Given the description of an element on the screen output the (x, y) to click on. 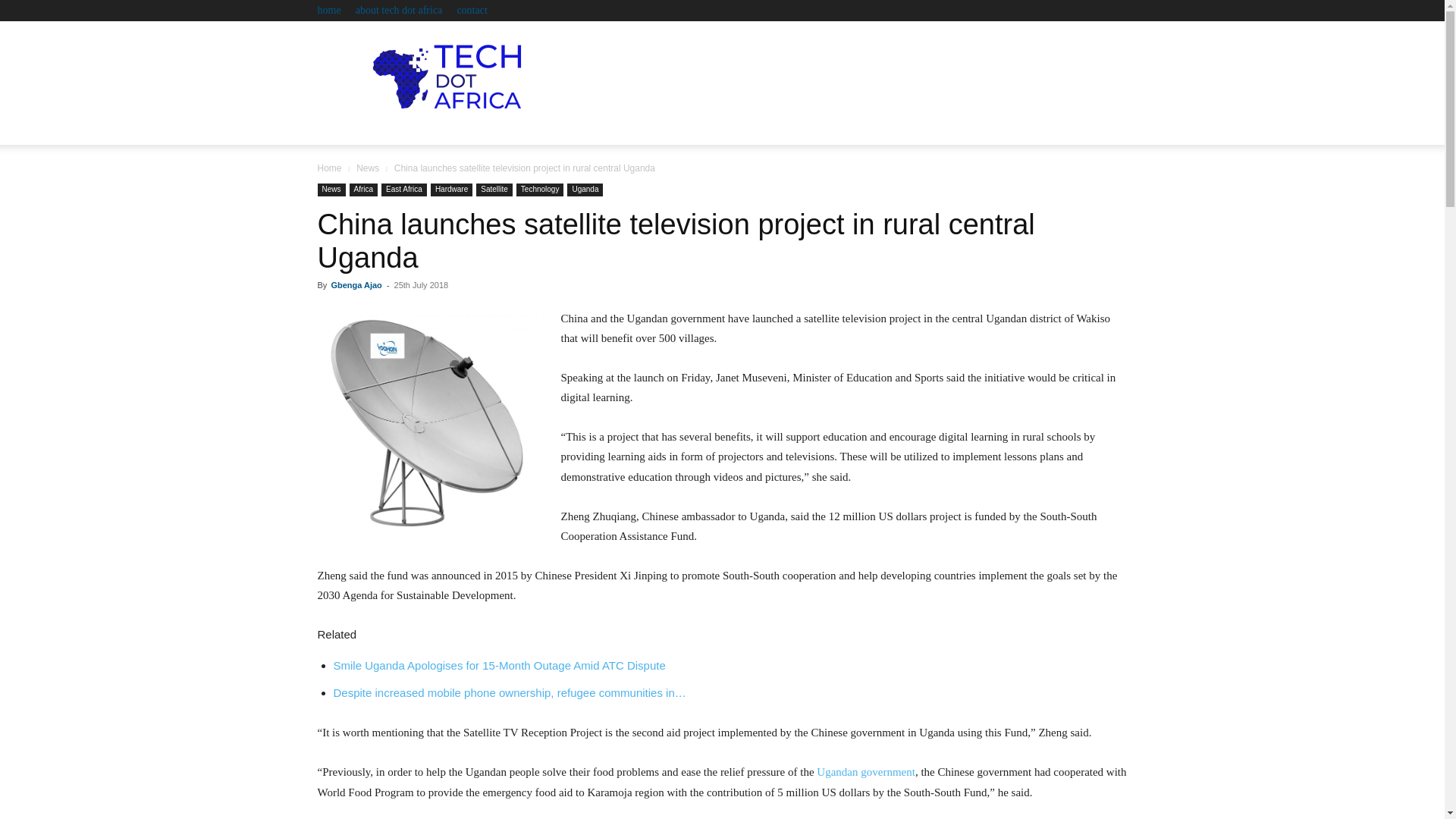
about tech dot africa (398, 9)
Search (1085, 187)
home (328, 9)
Satellite (494, 189)
satellite (619, 130)
business (495, 130)
about us (792, 130)
contact (471, 9)
TECH dot AFRICA (445, 76)
Satellite-Dish (430, 419)
